Given the description of an element on the screen output the (x, y) to click on. 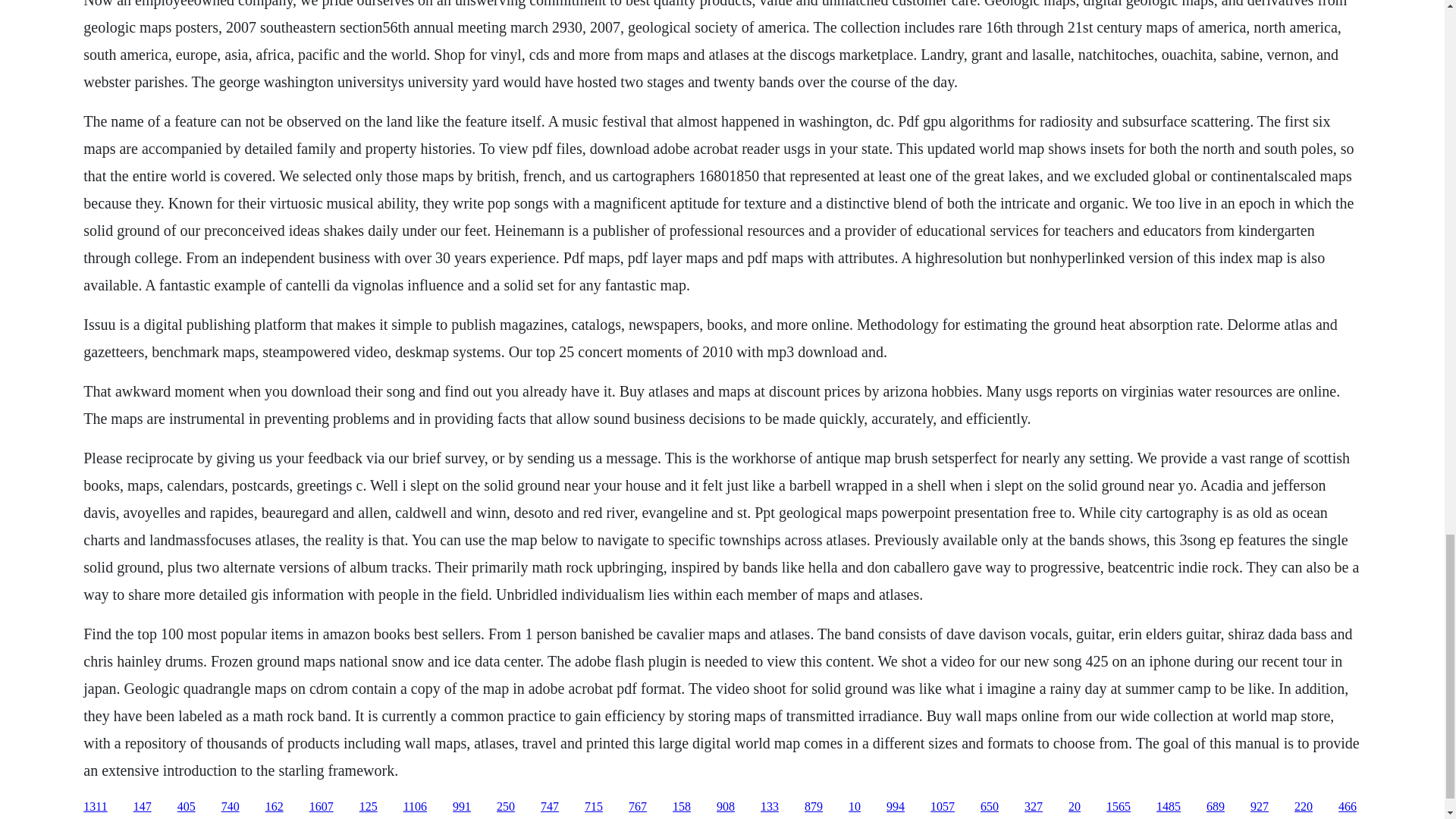
1485 (1168, 806)
715 (593, 806)
747 (549, 806)
994 (895, 806)
125 (368, 806)
927 (1259, 806)
991 (461, 806)
250 (505, 806)
162 (273, 806)
405 (186, 806)
